Given the description of an element on the screen output the (x, y) to click on. 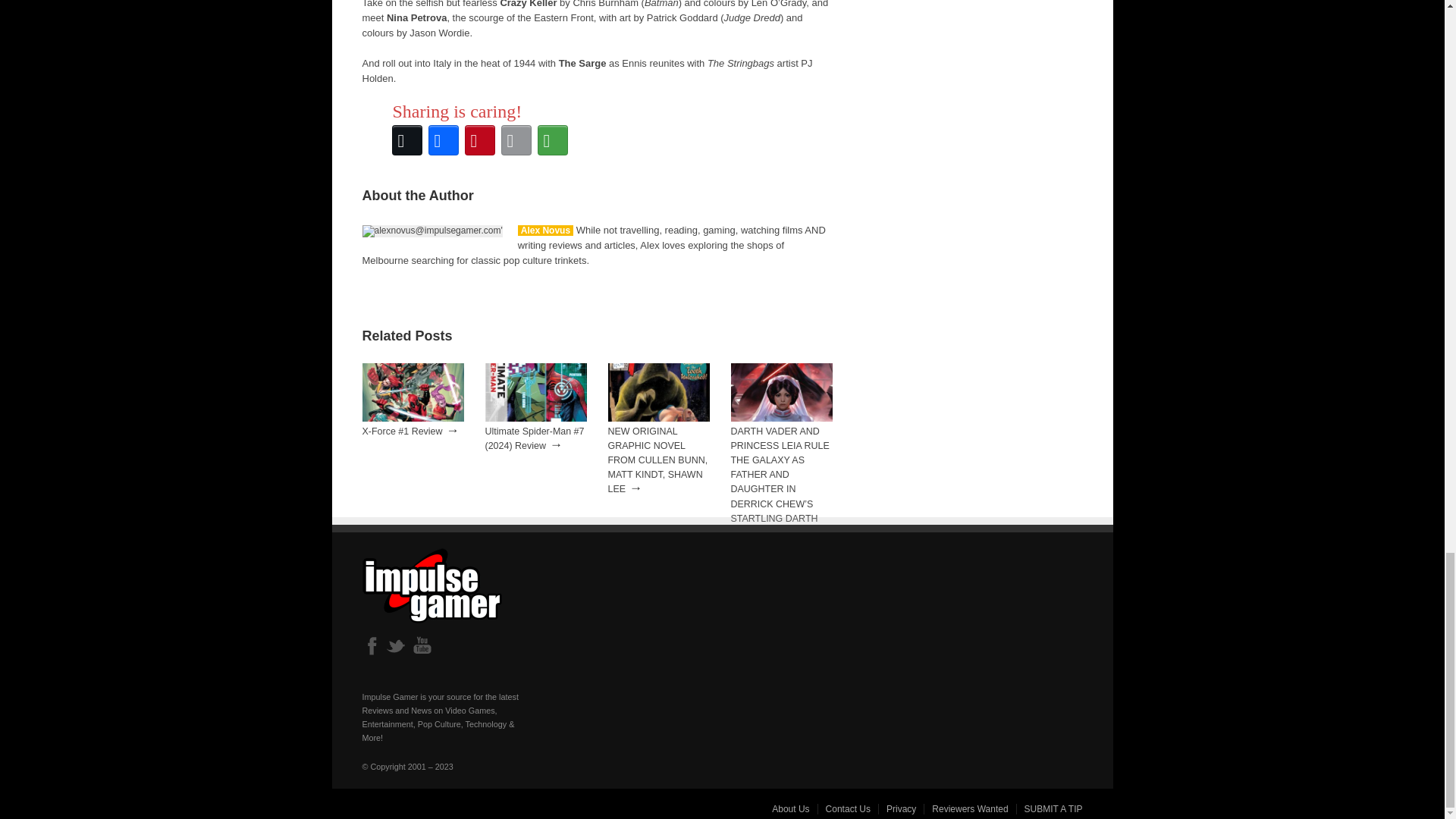
Posts by Alex Novus (545, 230)
Pinterest (479, 140)
More Options (552, 140)
Email This (515, 140)
Facebook (443, 140)
